Given the description of an element on the screen output the (x, y) to click on. 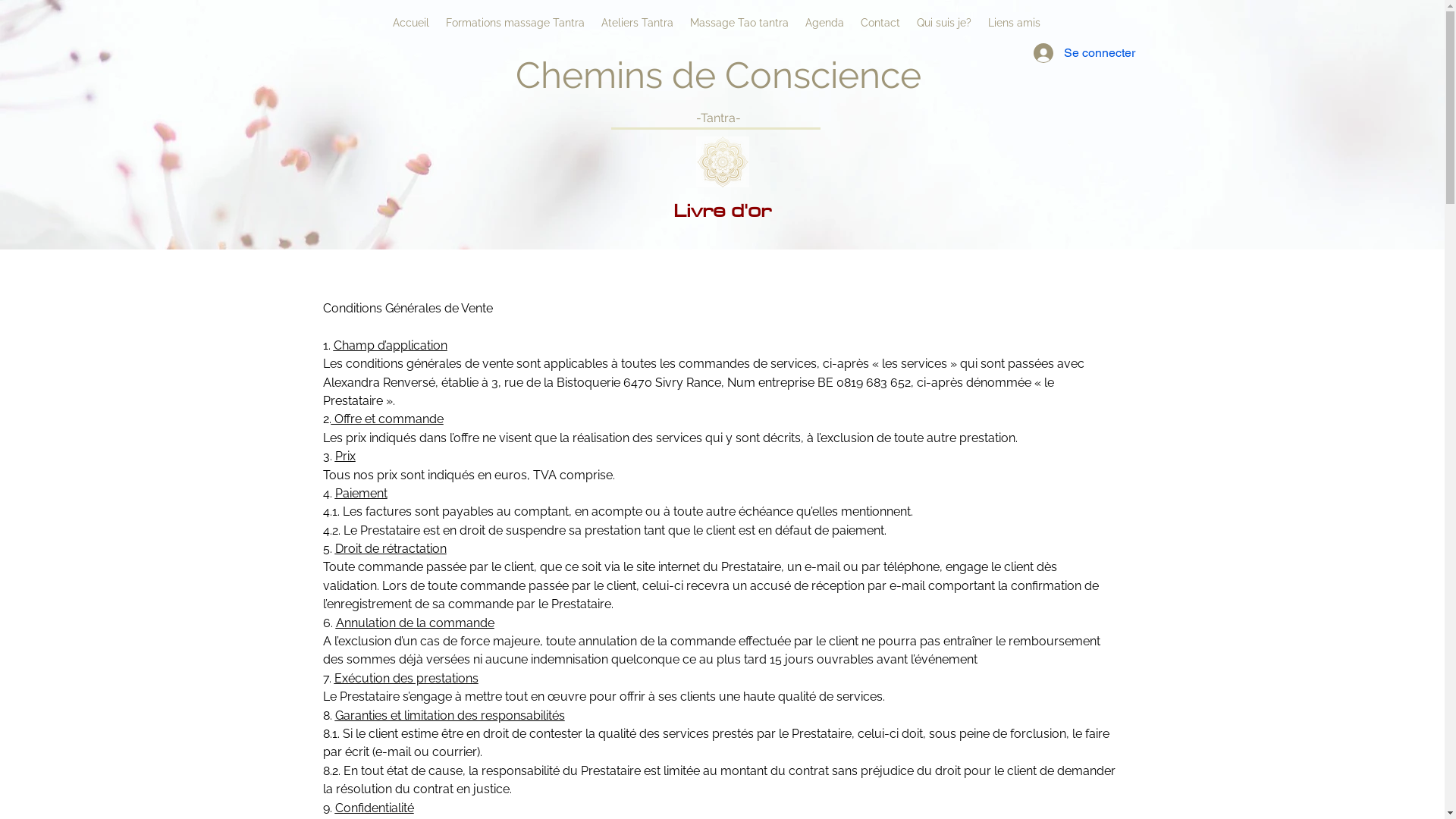
Contact Element type: text (880, 22)
Formations massage Tantra Element type: text (514, 22)
Agenda Element type: text (823, 22)
Ateliers Tantra Element type: text (637, 22)
Massage Tao tantra Element type: text (738, 22)
Livre d'or Element type: text (722, 209)
Qui suis je? Element type: text (943, 22)
Liens amis Element type: text (1013, 22)
Se connecter Element type: text (1048, 52)
Accueil Element type: text (409, 22)
